Given the description of an element on the screen output the (x, y) to click on. 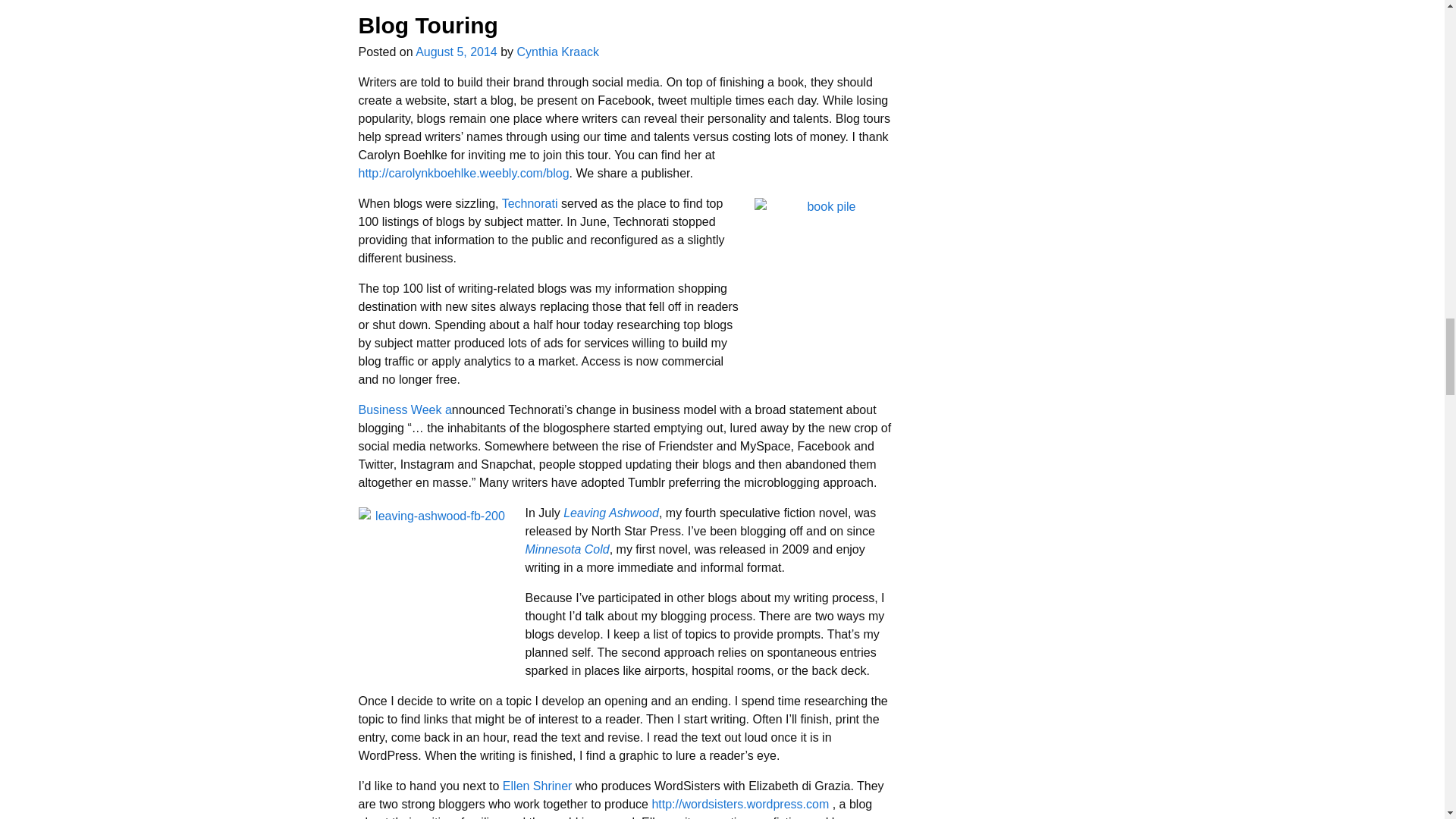
Permalink to Blog Touring (427, 25)
10:39 am (455, 51)
